Given the description of an element on the screen output the (x, y) to click on. 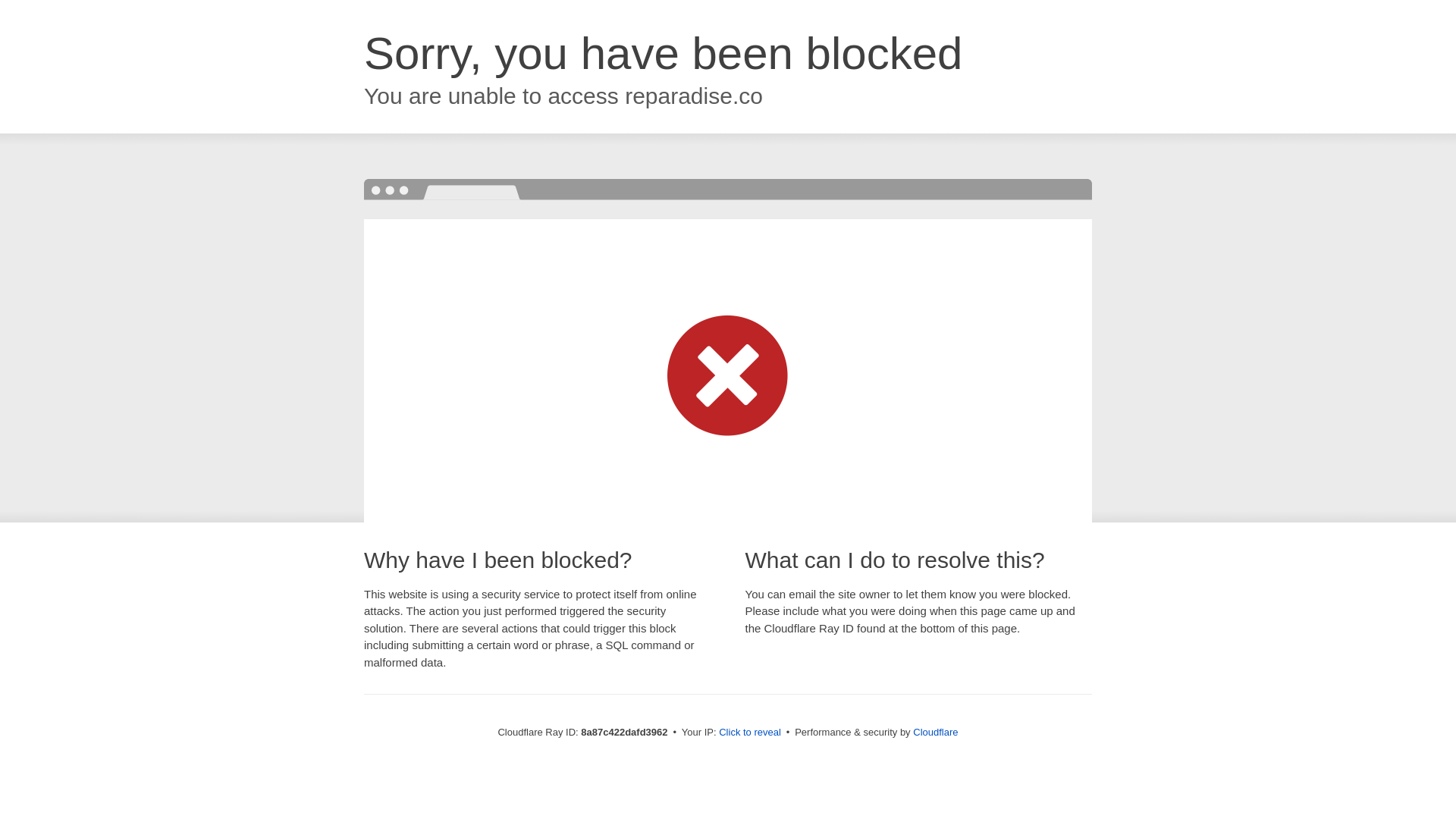
Cloudflare (935, 731)
Click to reveal (749, 732)
